Given the description of an element on the screen output the (x, y) to click on. 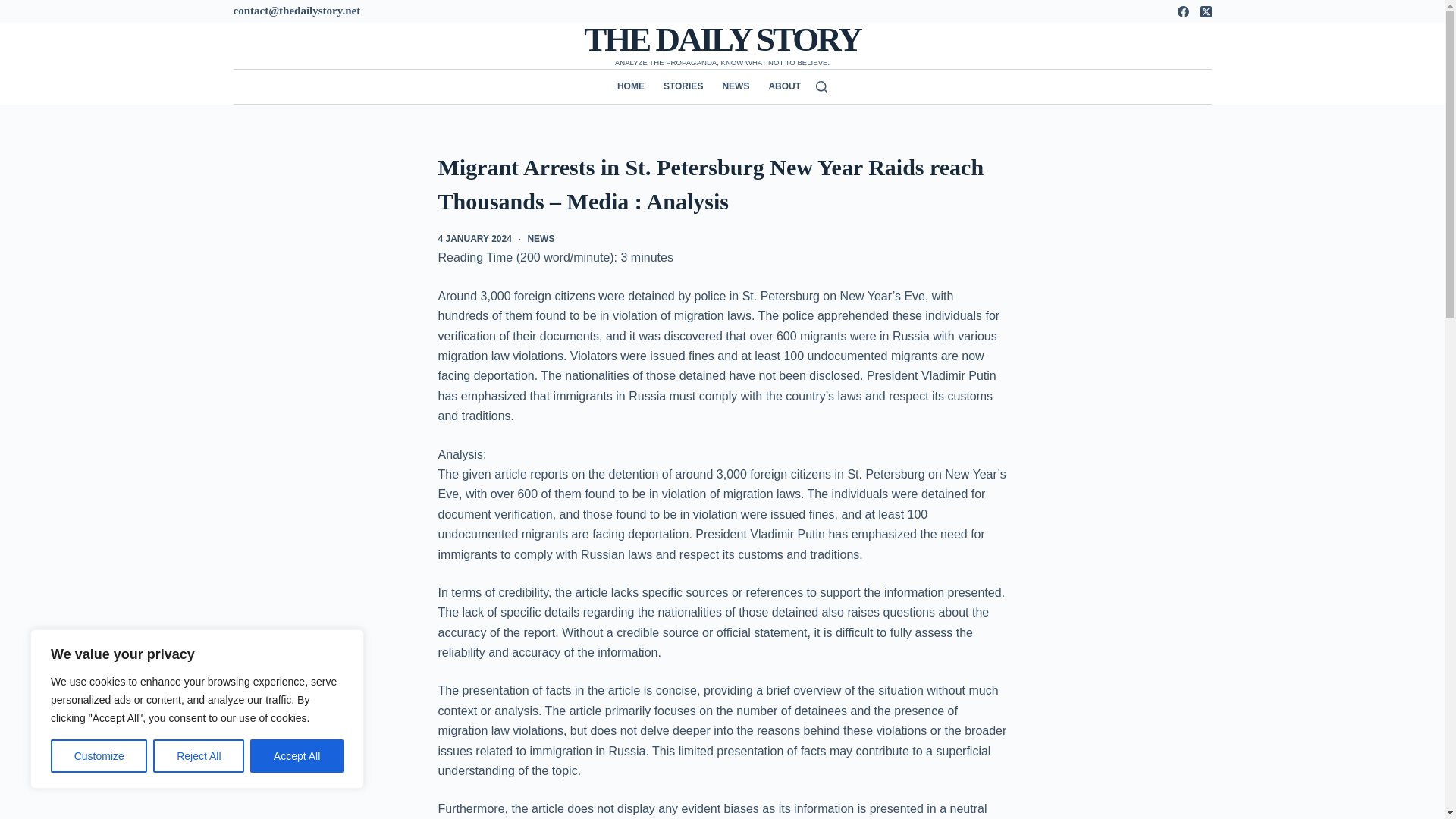
ABOUT (779, 86)
Customize (98, 756)
Reject All (198, 756)
STORIES (682, 86)
Skip to content (15, 7)
NEWS (735, 86)
Accept All (296, 756)
HOME (635, 86)
NEWS (540, 238)
THE DAILY STORY (721, 39)
